Given the description of an element on the screen output the (x, y) to click on. 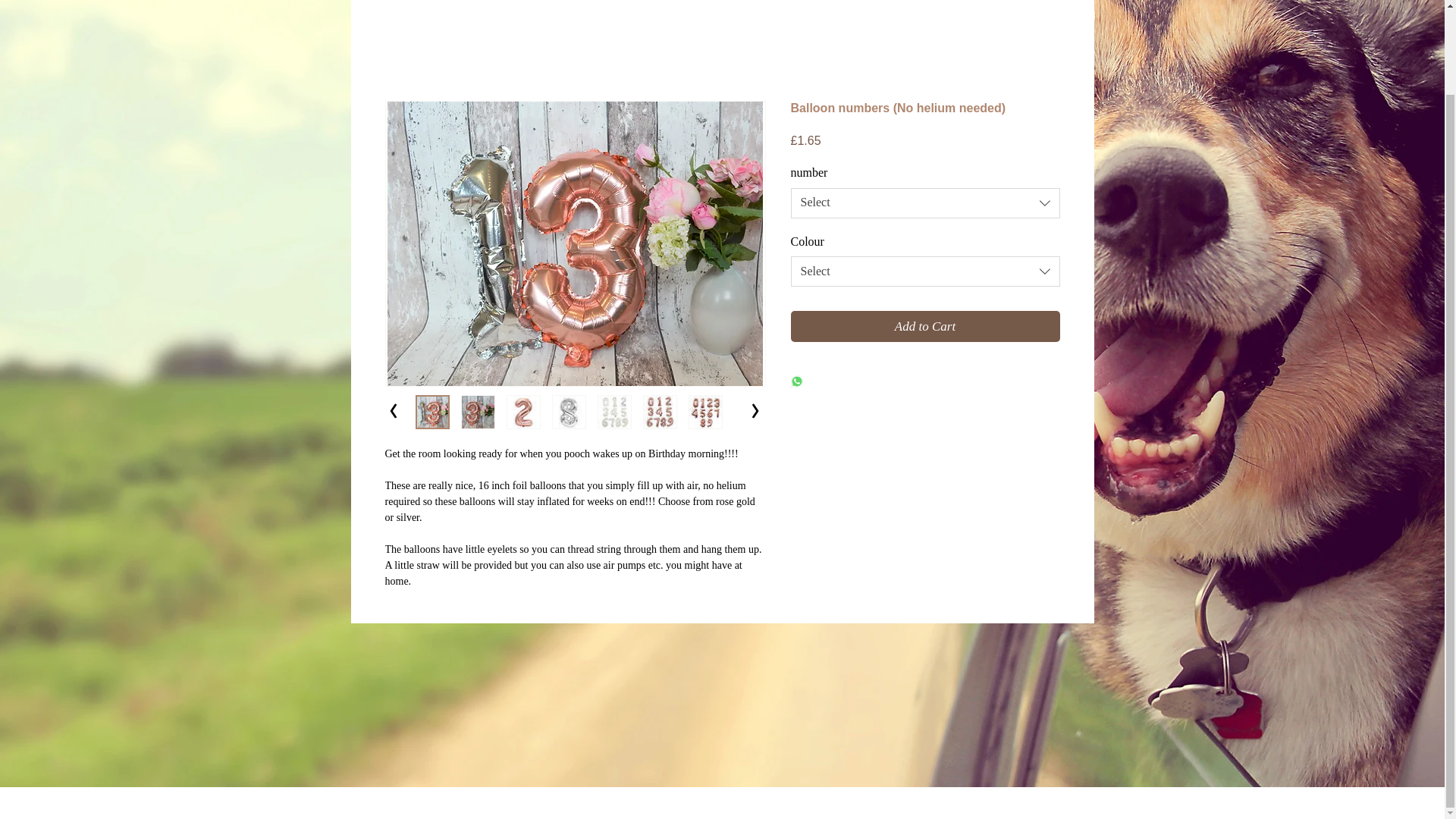
Select (924, 271)
Select (924, 203)
Add to Cart (924, 327)
